Given the description of an element on the screen output the (x, y) to click on. 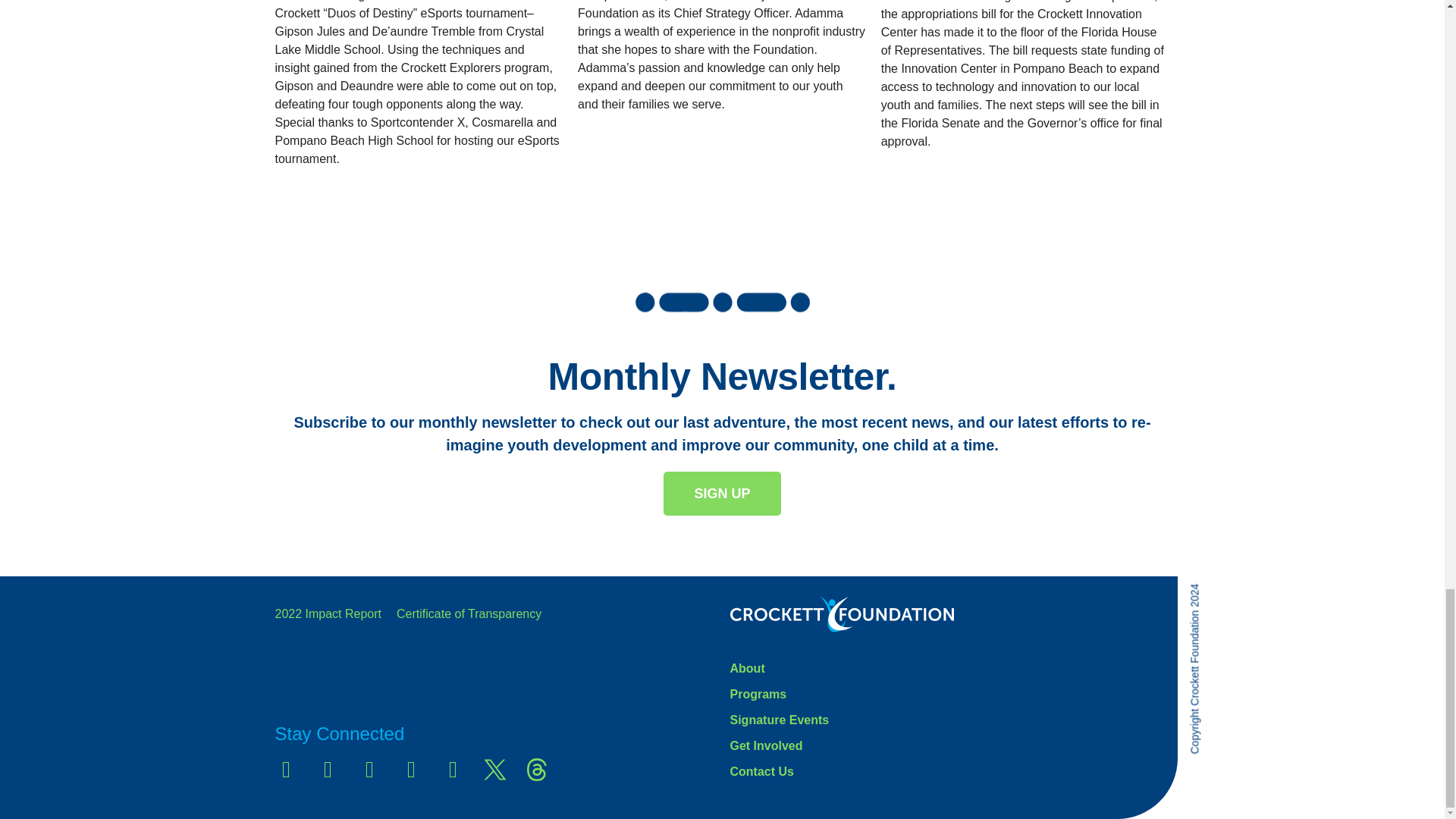
SIGN UP (721, 493)
2022 Impact Report (328, 613)
Contact Us (949, 771)
Certificate of Transparency (468, 613)
About (949, 669)
Signature Events (949, 720)
Programs (949, 694)
Get Involved (949, 746)
